Given the description of an element on the screen output the (x, y) to click on. 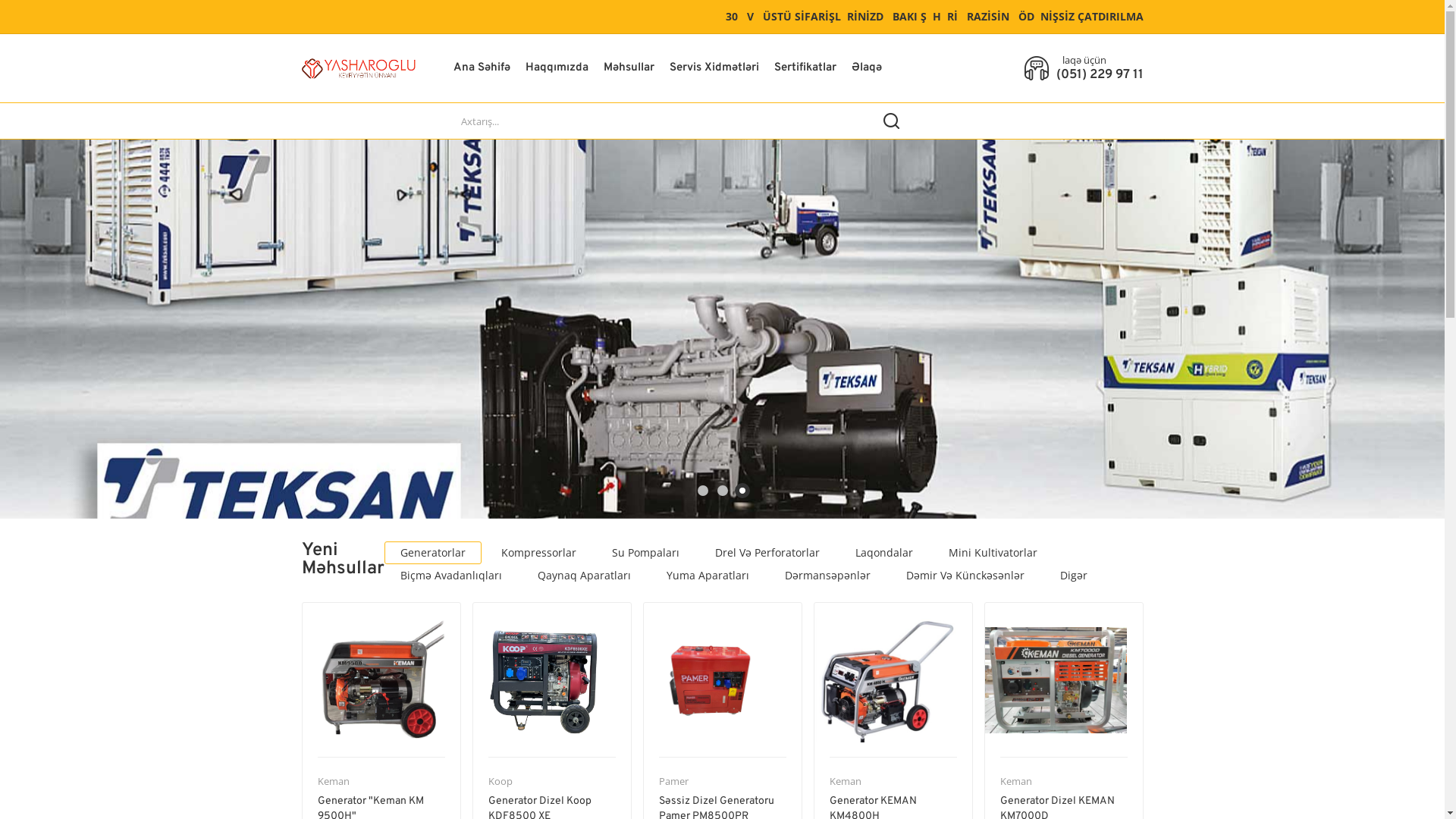
Mini Kultivatorlar Element type: text (992, 552)
Koop Element type: text (500, 780)
Keman Element type: text (845, 780)
(051) 229 97 11 Element type: text (1098, 74)
Generatorlar Element type: text (431, 552)
Kompressorlar Element type: text (538, 552)
Pamer Element type: text (672, 780)
Sertifikatlar Element type: text (804, 67)
Keman Element type: text (1015, 780)
Laqondalar Element type: text (883, 552)
Keman Element type: text (332, 780)
